Given the description of an element on the screen output the (x, y) to click on. 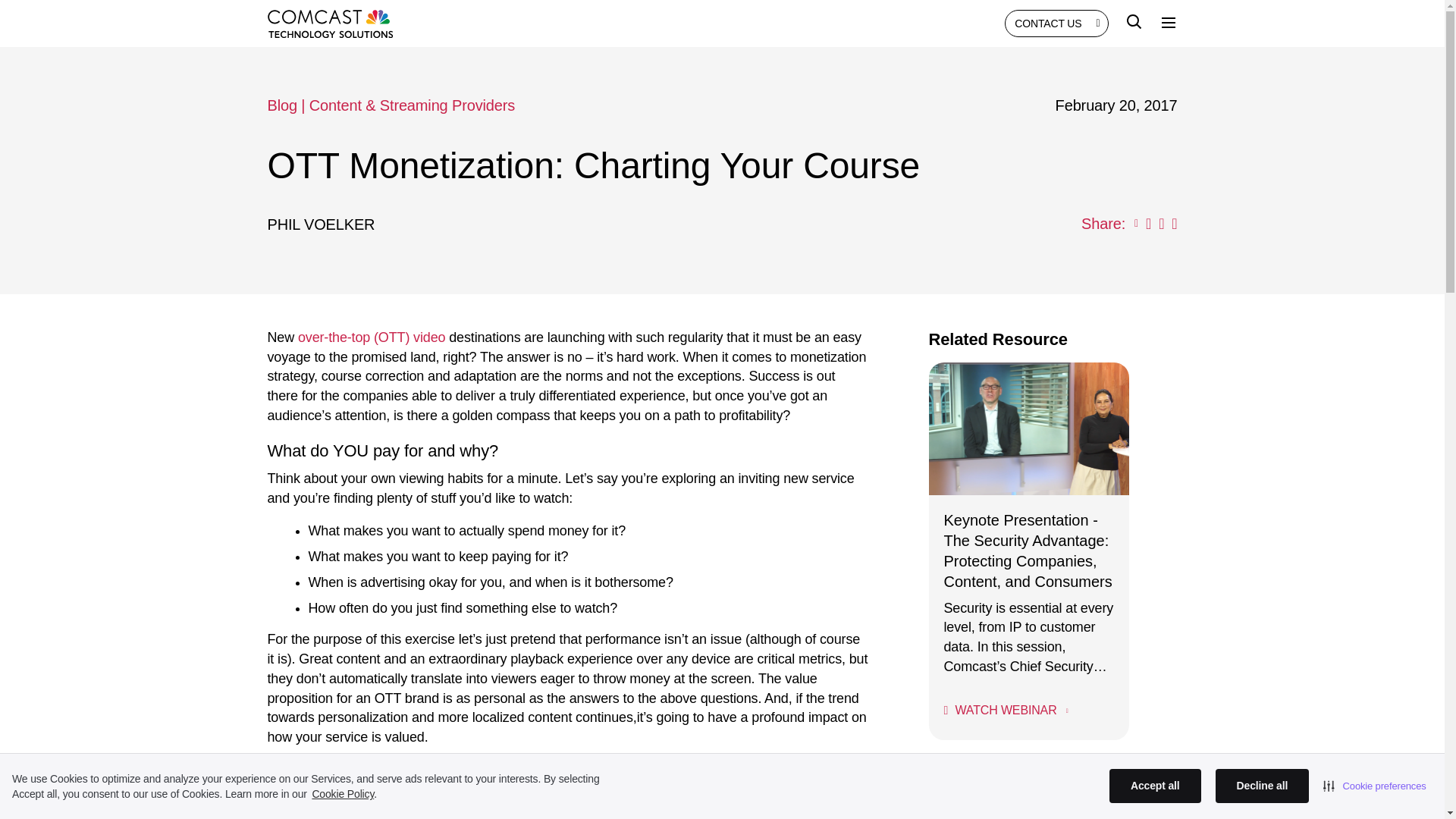
Menu (1167, 22)
Accept all (1155, 786)
Cookie preferences (1374, 786)
Decline all (1261, 786)
CONTACT US (1056, 22)
Cookie Policy. (344, 793)
Home (329, 23)
